Given the description of an element on the screen output the (x, y) to click on. 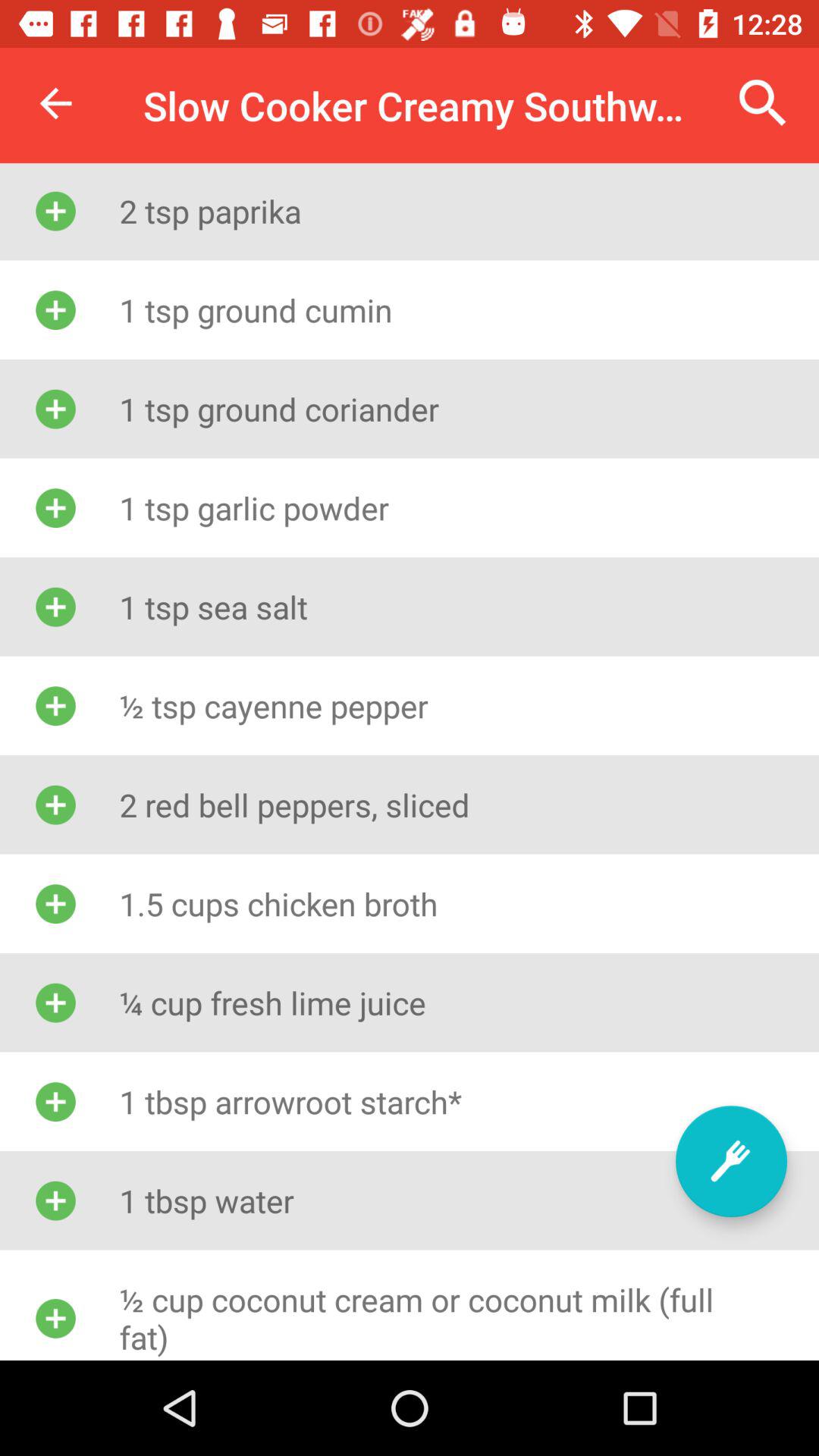
choose the icon at the top right corner (763, 103)
